Given the description of an element on the screen output the (x, y) to click on. 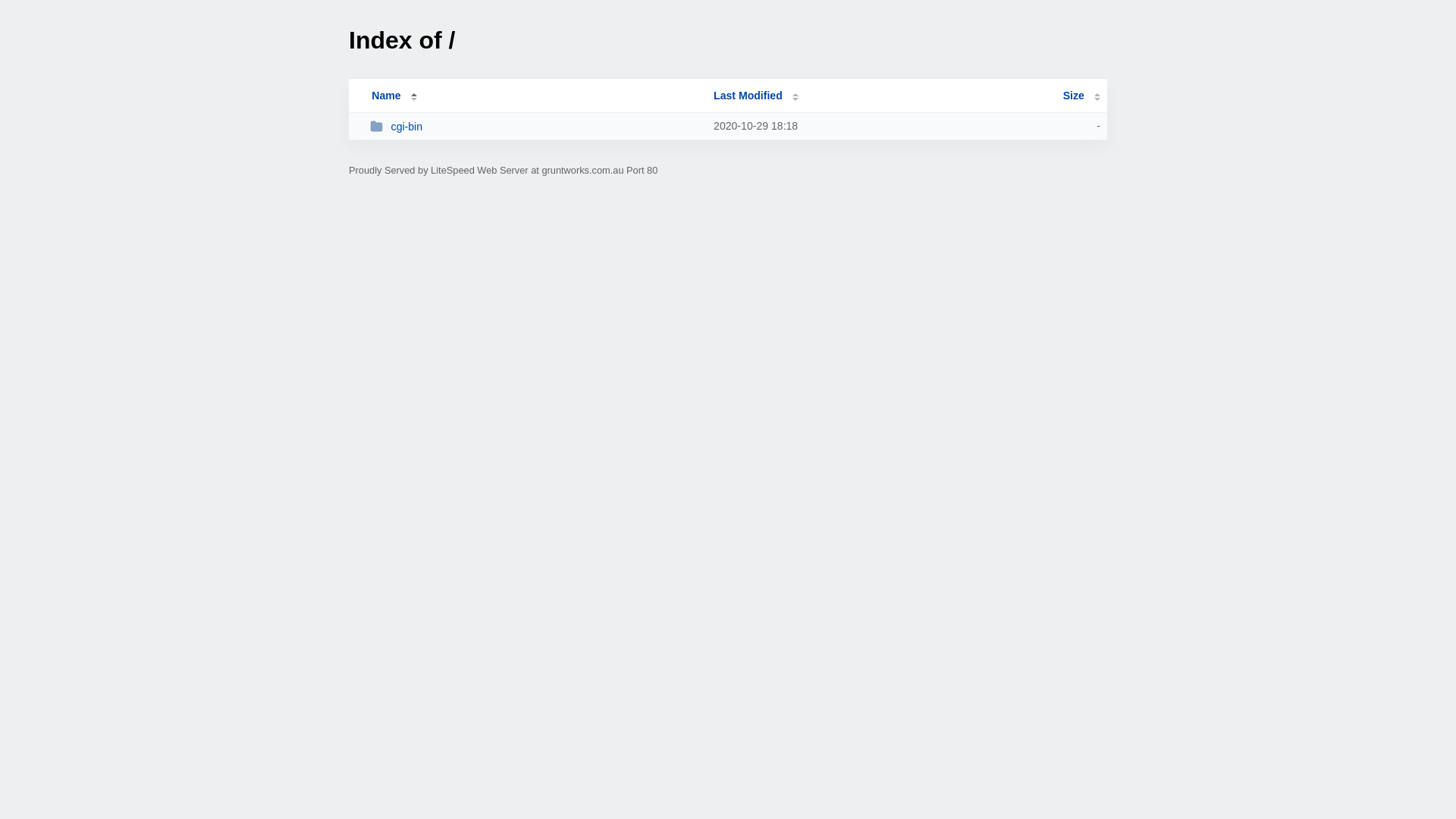
Last Modified Element type: text (755, 95)
Name Element type: text (385, 95)
cgi-bin Element type: text (534, 125)
Size Element type: text (1081, 95)
